Given the description of an element on the screen output the (x, y) to click on. 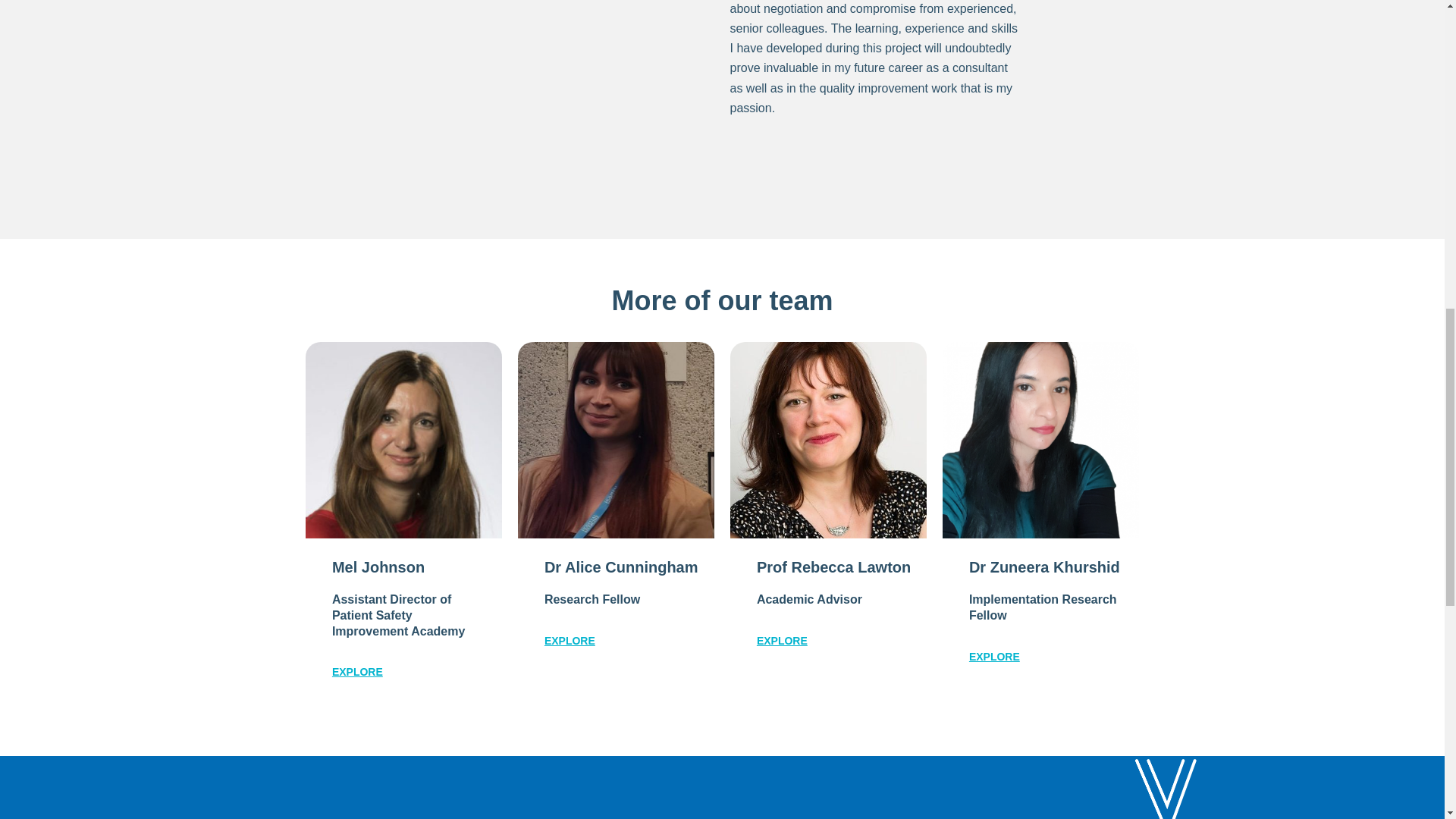
Rebecca Lawton (828, 440)
Zuneera Khurshid photo (1040, 440)
Alice C (616, 440)
Mel Johnson (403, 440)
